Given the description of an element on the screen output the (x, y) to click on. 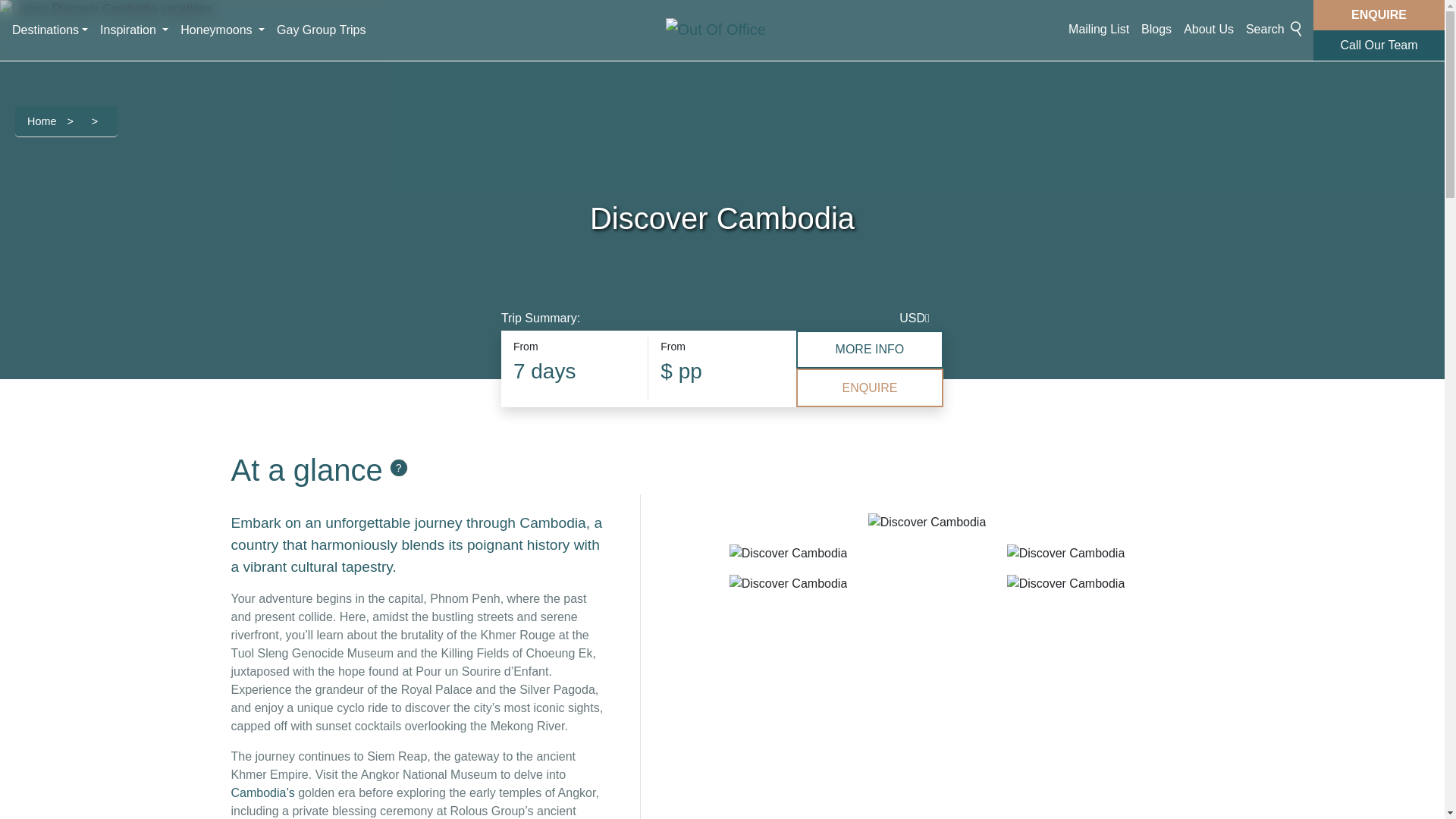
Destinations (49, 30)
Blogs (1156, 29)
Gay Group Trips (320, 30)
Inspiration (134, 30)
Search (1273, 29)
Mailing List (1098, 29)
About Us (1208, 29)
Honeymoons (222, 30)
